Given the description of an element on the screen output the (x, y) to click on. 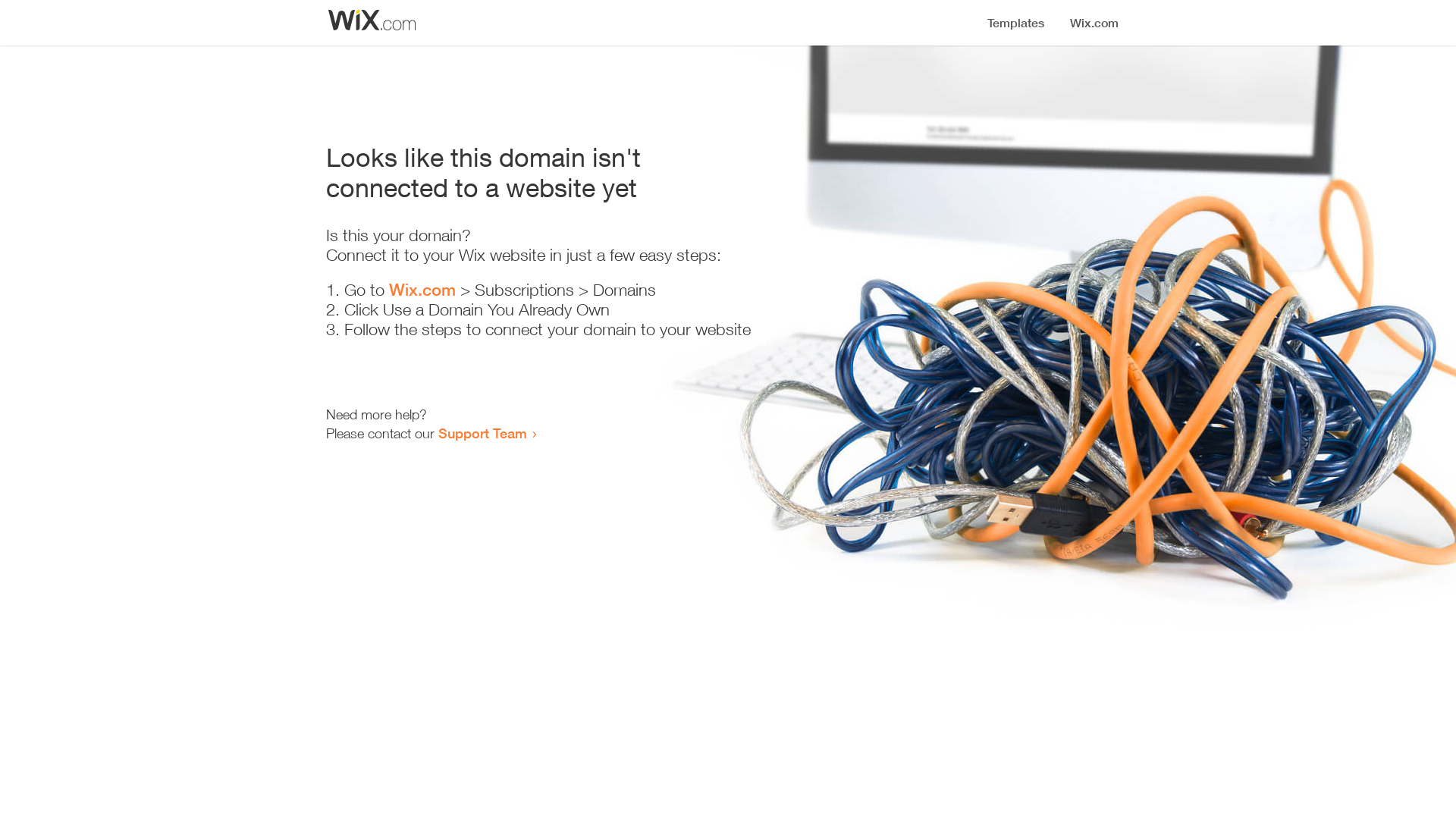
Support Team Element type: text (482, 432)
Wix.com Element type: text (422, 289)
